Given the description of an element on the screen output the (x, y) to click on. 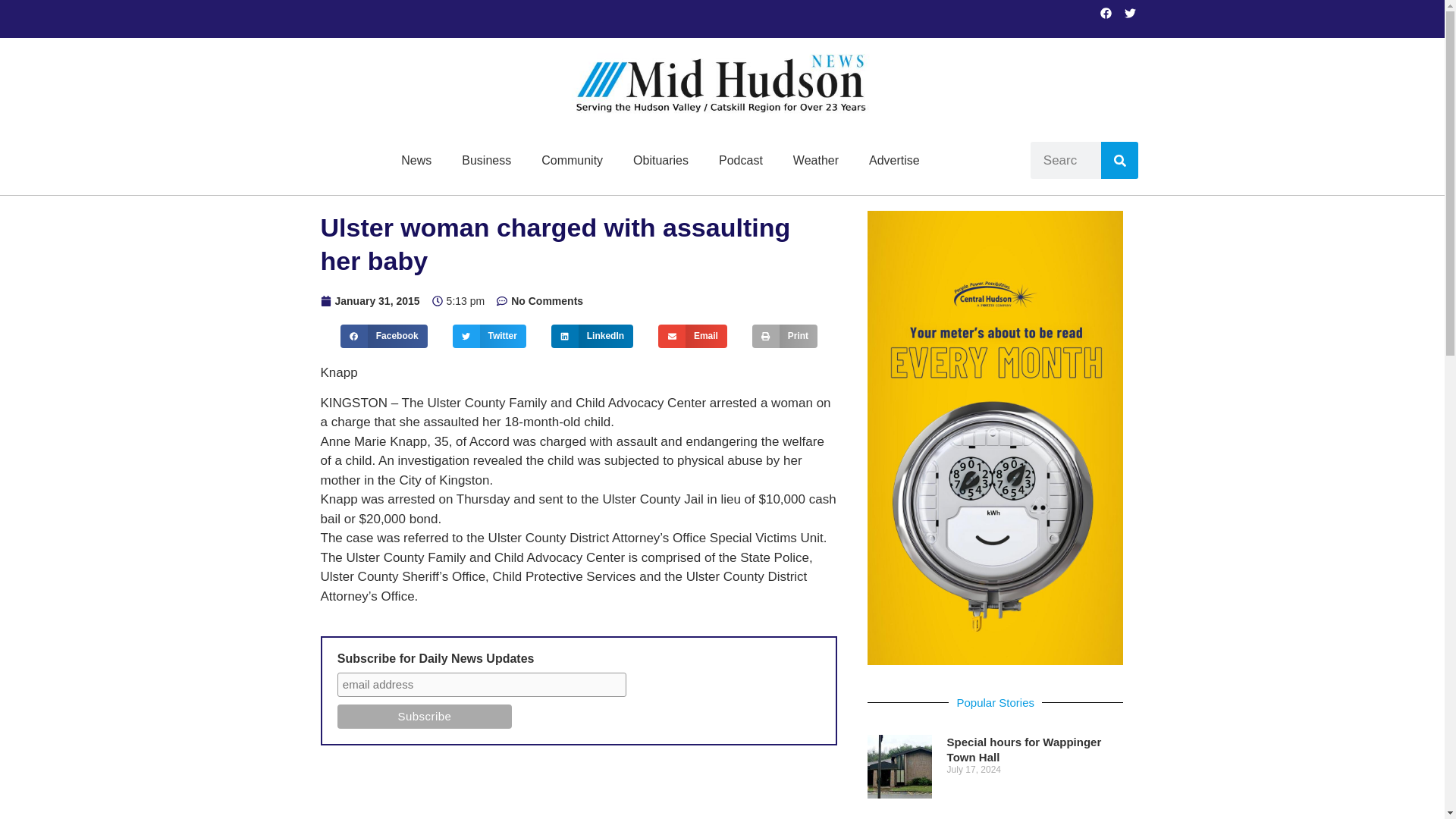
Subscribe (424, 716)
